Given the description of an element on the screen output the (x, y) to click on. 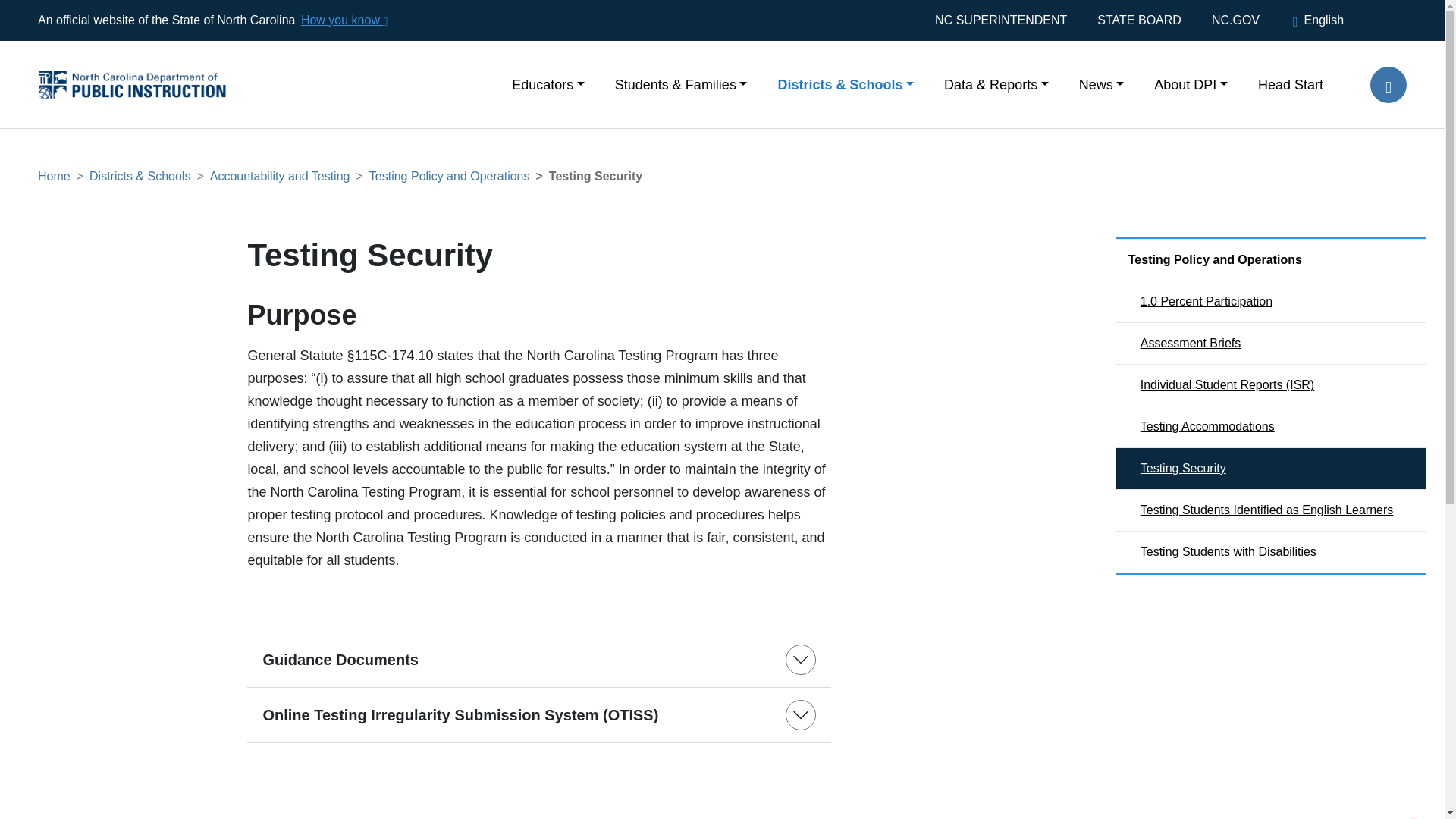
How you know (342, 20)
STATE BOARD (1138, 20)
Educators (547, 83)
Back to top (1414, 818)
Home (116, 61)
NC SUPERINTENDENT (1007, 20)
NC.GOV (1235, 20)
